Given the description of an element on the screen output the (x, y) to click on. 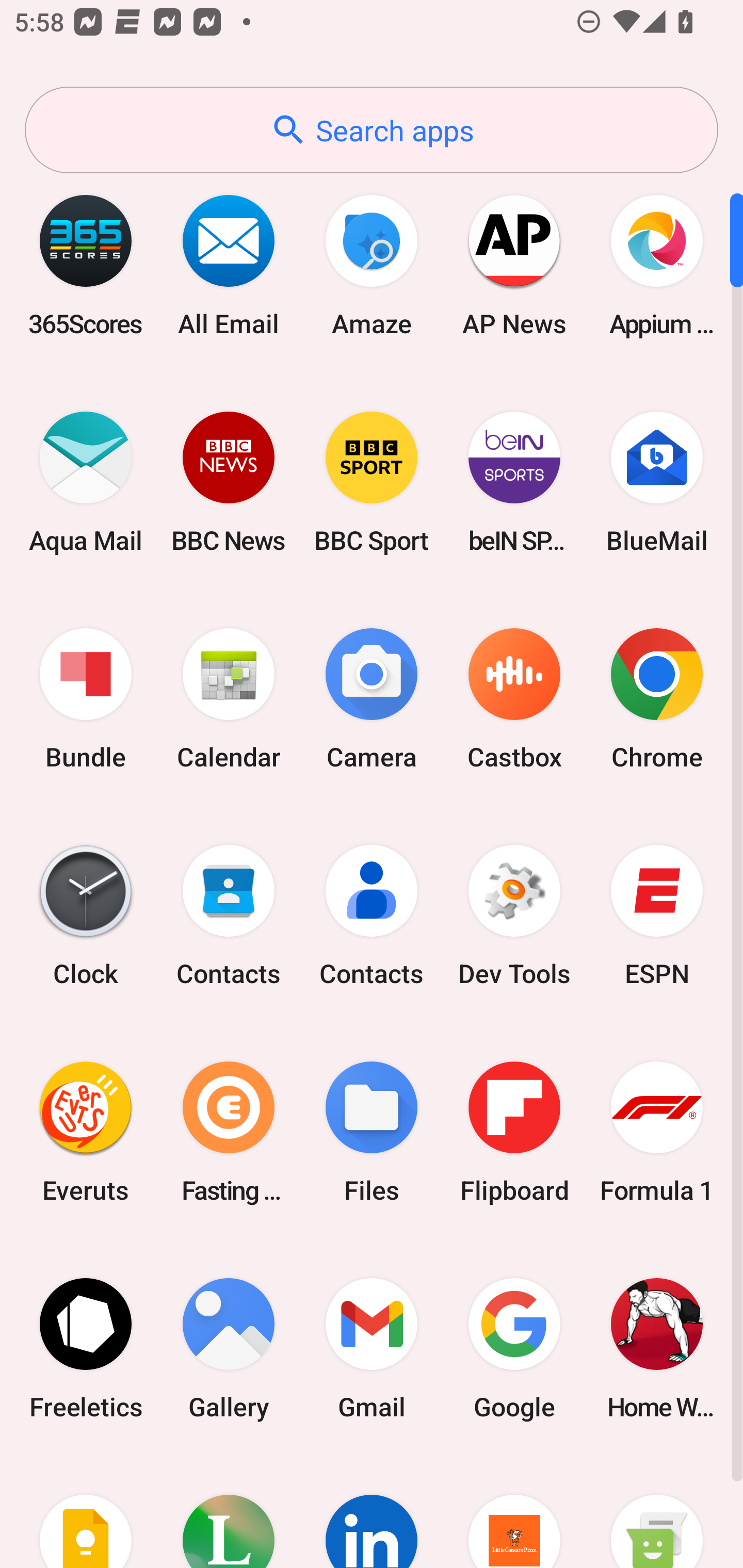
  Search apps (371, 130)
365Scores (85, 264)
All Email (228, 264)
Amaze (371, 264)
AP News (514, 264)
Appium Settings (656, 264)
Aqua Mail (85, 482)
BBC News (228, 482)
BBC Sport (371, 482)
beIN SPORTS (514, 482)
BlueMail (656, 482)
Bundle (85, 699)
Calendar (228, 699)
Camera (371, 699)
Castbox (514, 699)
Chrome (656, 699)
Clock (85, 915)
Contacts (228, 915)
Contacts (371, 915)
Dev Tools (514, 915)
ESPN (656, 915)
Everuts (85, 1131)
Fasting Coach (228, 1131)
Files (371, 1131)
Flipboard (514, 1131)
Formula 1 (656, 1131)
Freeletics (85, 1348)
Gallery (228, 1348)
Gmail (371, 1348)
Google (514, 1348)
Home Workout (656, 1348)
Keep Notes (85, 1512)
Lifesum (228, 1512)
LinkedIn (371, 1512)
Little Caesars Pizza (514, 1512)
Messaging (656, 1512)
